Given the description of an element on the screen output the (x, y) to click on. 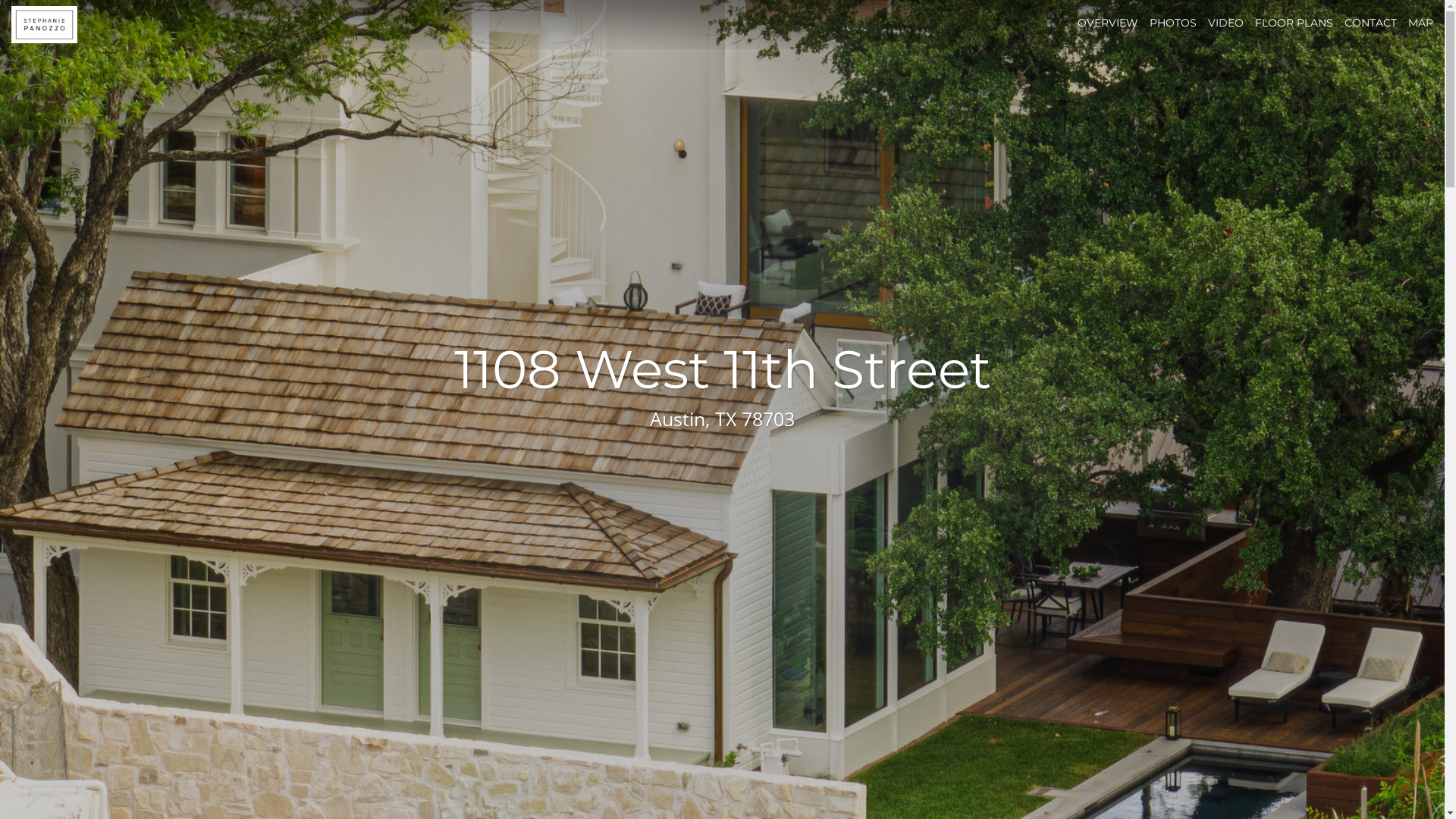
VIDEO Element type: text (1225, 22)
OVERVIEW Element type: text (1107, 22)
MAP Element type: text (1420, 22)
CONTACT Element type: text (1370, 22)
PHOTOS Element type: text (1172, 22)
FLOOR PLANS Element type: text (1294, 22)
